Given the description of an element on the screen output the (x, y) to click on. 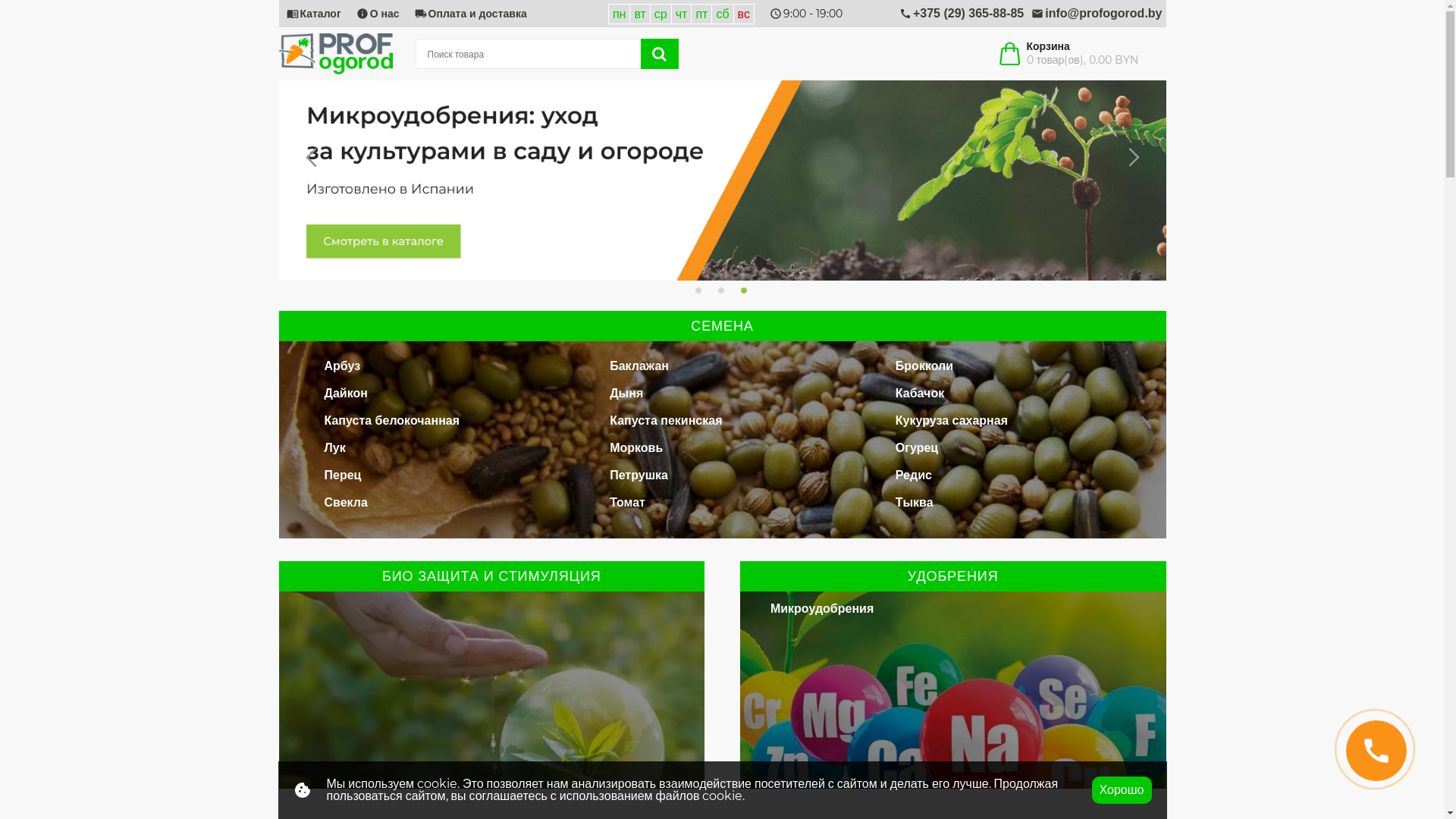
Profogorod Element type: hover (335, 53)
Next Element type: text (1131, 156)
3 Element type: text (744, 291)
2 Element type: text (721, 291)
Previous Element type: text (312, 157)
1 Element type: text (698, 291)
mail
info@profogorod.by Element type: text (1096, 13)
call Element type: text (1376, 750)
call
+375 (29) 365-88-85 Element type: text (961, 13)
